Given the description of an element on the screen output the (x, y) to click on. 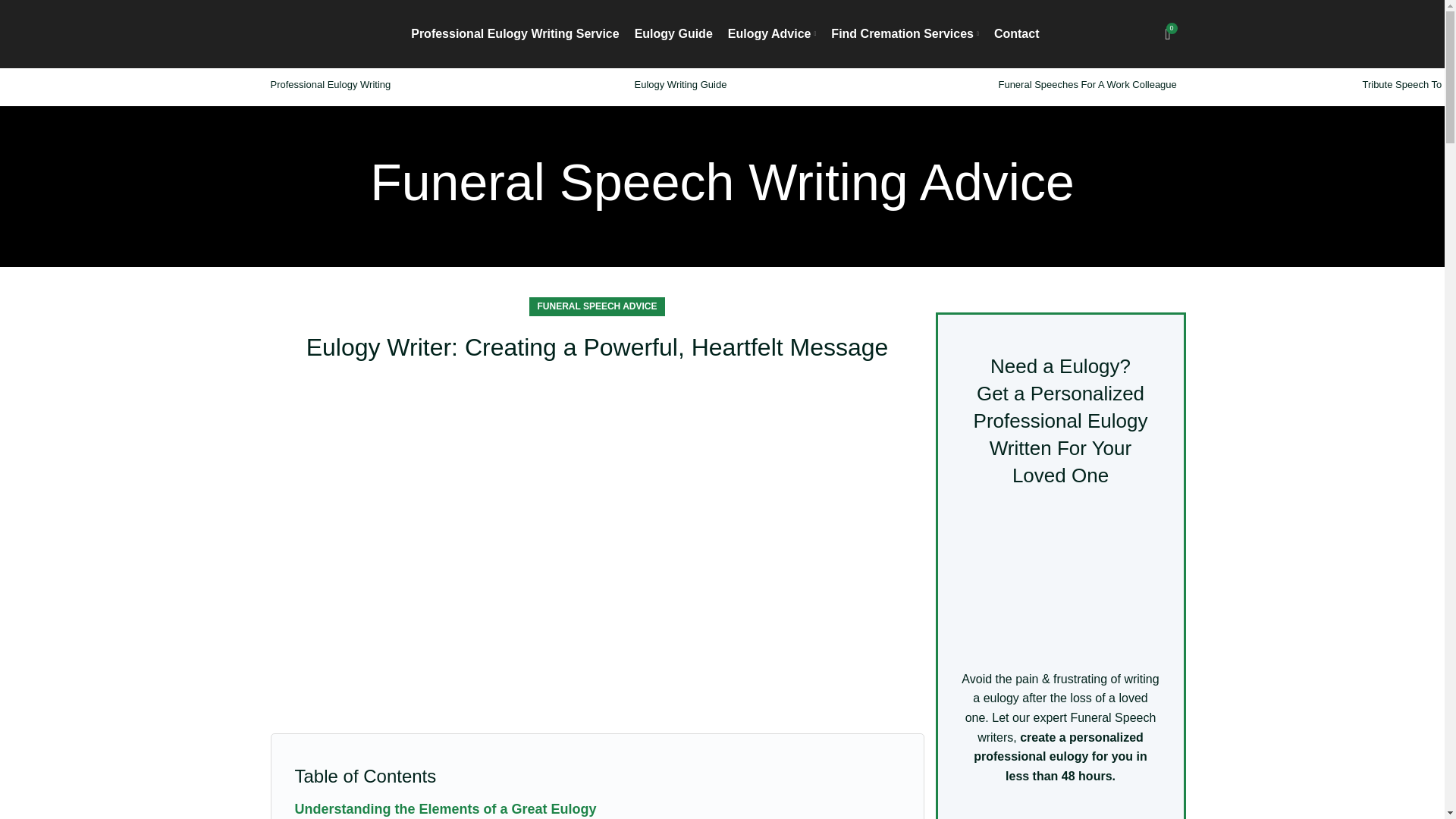
Professional Eulogy Writing (329, 84)
Understanding the Elements of a Great Eulogy (444, 808)
Contact (1016, 33)
Funeral Speeches For A Work Colleague (1086, 84)
Eulogy Writing Guide (679, 84)
Eulogy Advice (772, 33)
Eulogy Guide (673, 33)
Professional Eulogy Writing Service (514, 33)
professional eulogy writing service sidebar (1059, 579)
FUNERAL SPEECH ADVICE (596, 306)
Tribute Speech To Dad From Daughter (1408, 84)
Find Cremation Services (904, 33)
